Given the description of an element on the screen output the (x, y) to click on. 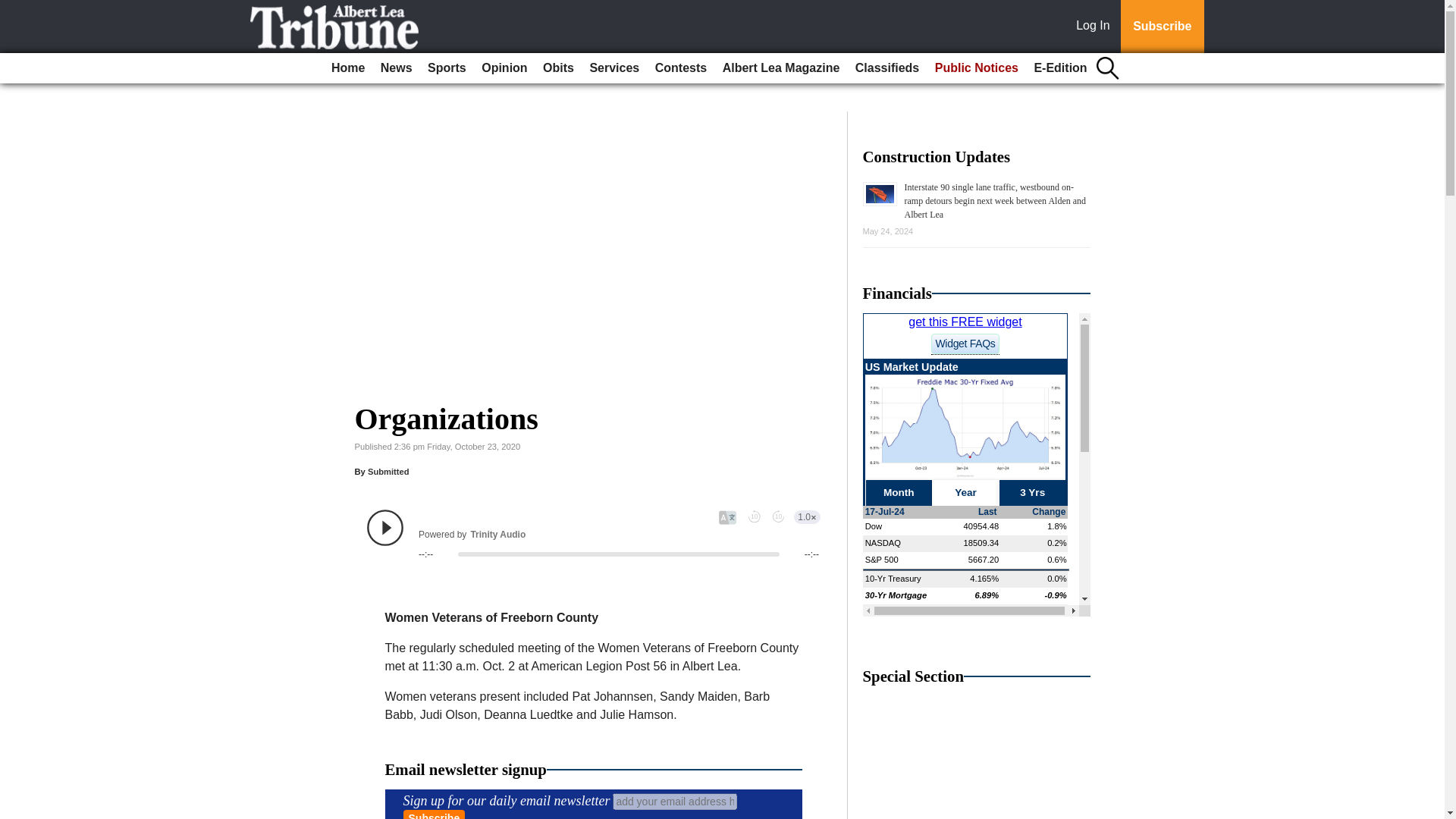
Trinity Audio Player (592, 534)
Obits (558, 68)
Services (614, 68)
Opinion (504, 68)
Subscribe (434, 814)
News (396, 68)
Subscribe (1162, 26)
Home (347, 68)
Sports (446, 68)
Log In (1095, 26)
